Given the description of an element on the screen output the (x, y) to click on. 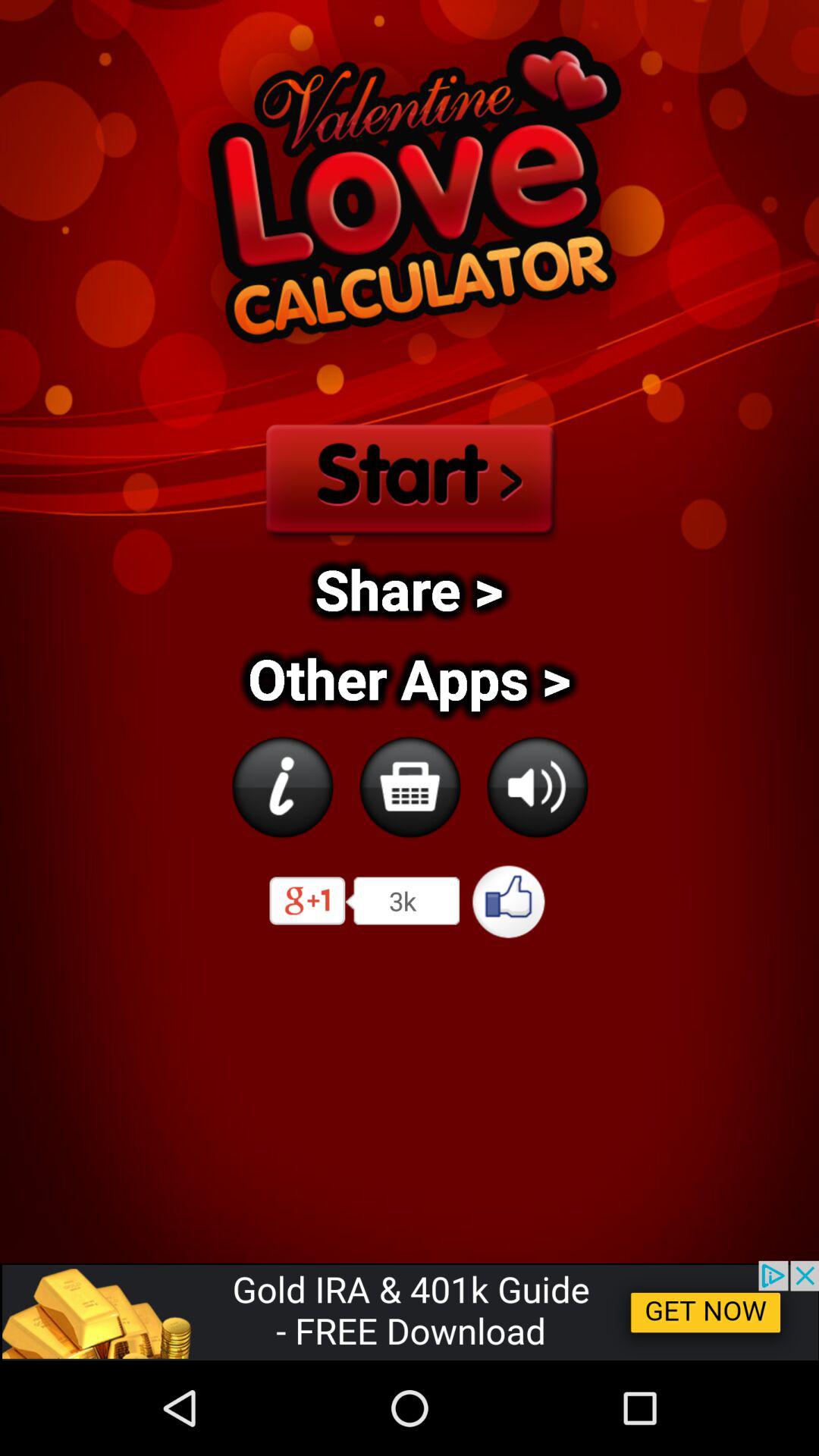
mute (536, 786)
